Given the description of an element on the screen output the (x, y) to click on. 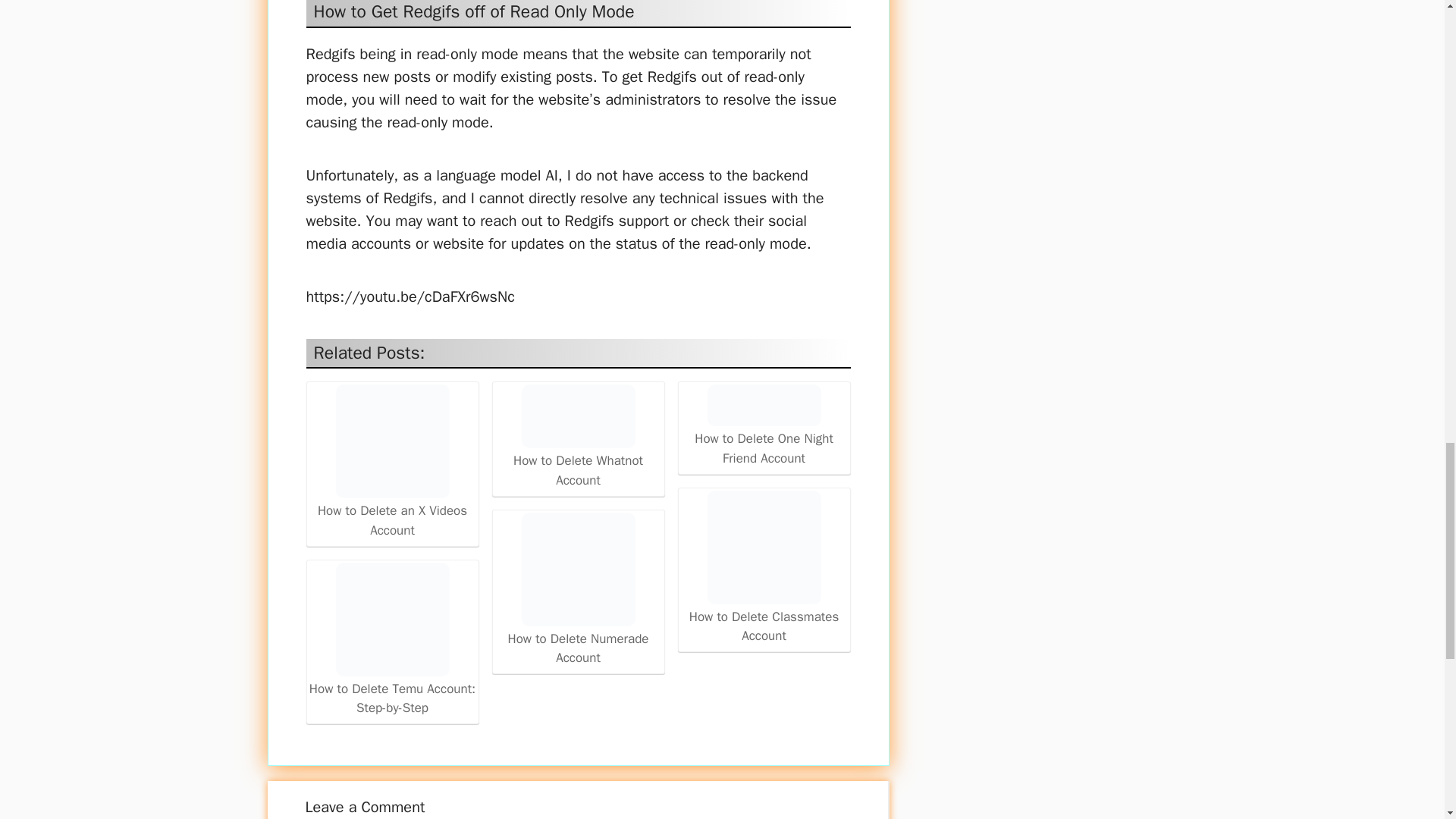
How to Delete Temu Account: Step-by-Step (392, 640)
How to Delete an X Videos Account (392, 461)
How to Delete an X Videos Account (391, 440)
How to Delete One Night Friend Account (763, 404)
How to Delete One Night Friend Account (764, 425)
How to Delete Classmates Account (764, 568)
How to Delete Numerade Account (578, 590)
How to Delete Whatnot Account (578, 436)
How to Delete Whatnot Account (577, 415)
How to Delete Temu Account: Step-by-Step (391, 619)
